Given the description of an element on the screen output the (x, y) to click on. 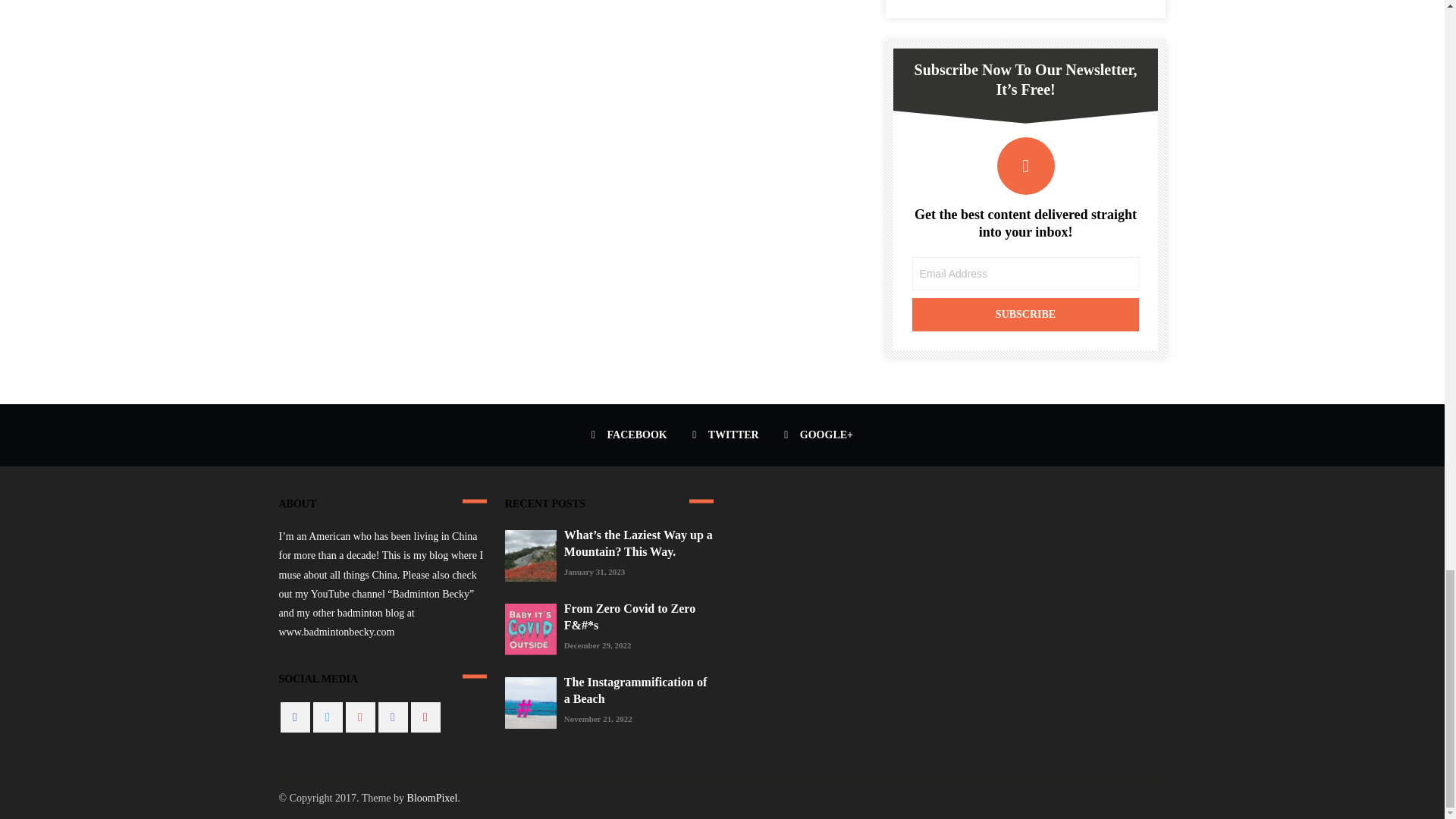
Subscribe (1026, 314)
